Given the description of an element on the screen output the (x, y) to click on. 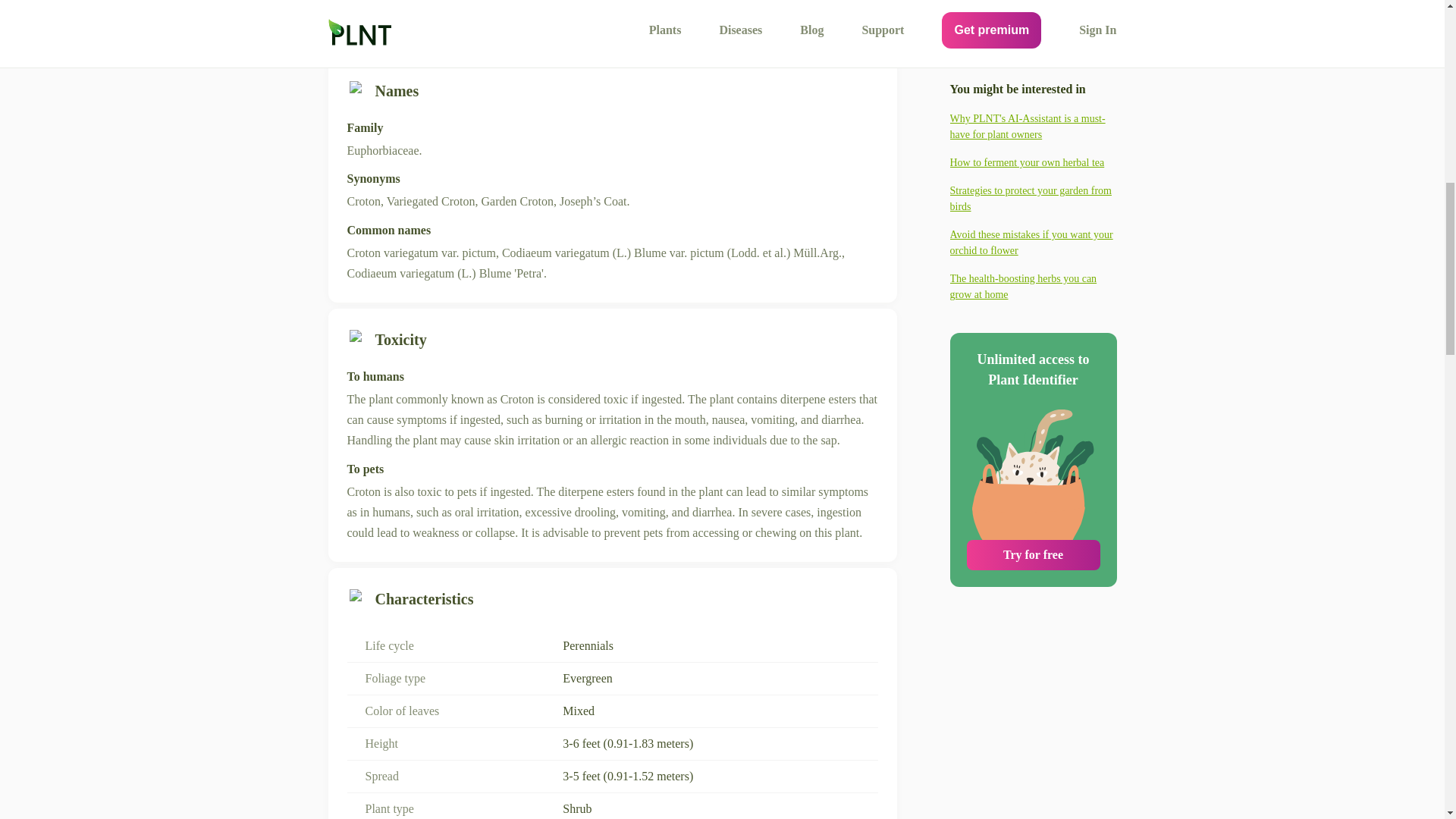
Strategies to protect your garden from birds (1032, 52)
Try for free (1032, 409)
Avoid these mistakes if you want your orchid to flower (1032, 97)
How to ferment your own herbal tea (1032, 17)
The health-boosting herbs you can grow at home (1032, 141)
